Given the description of an element on the screen output the (x, y) to click on. 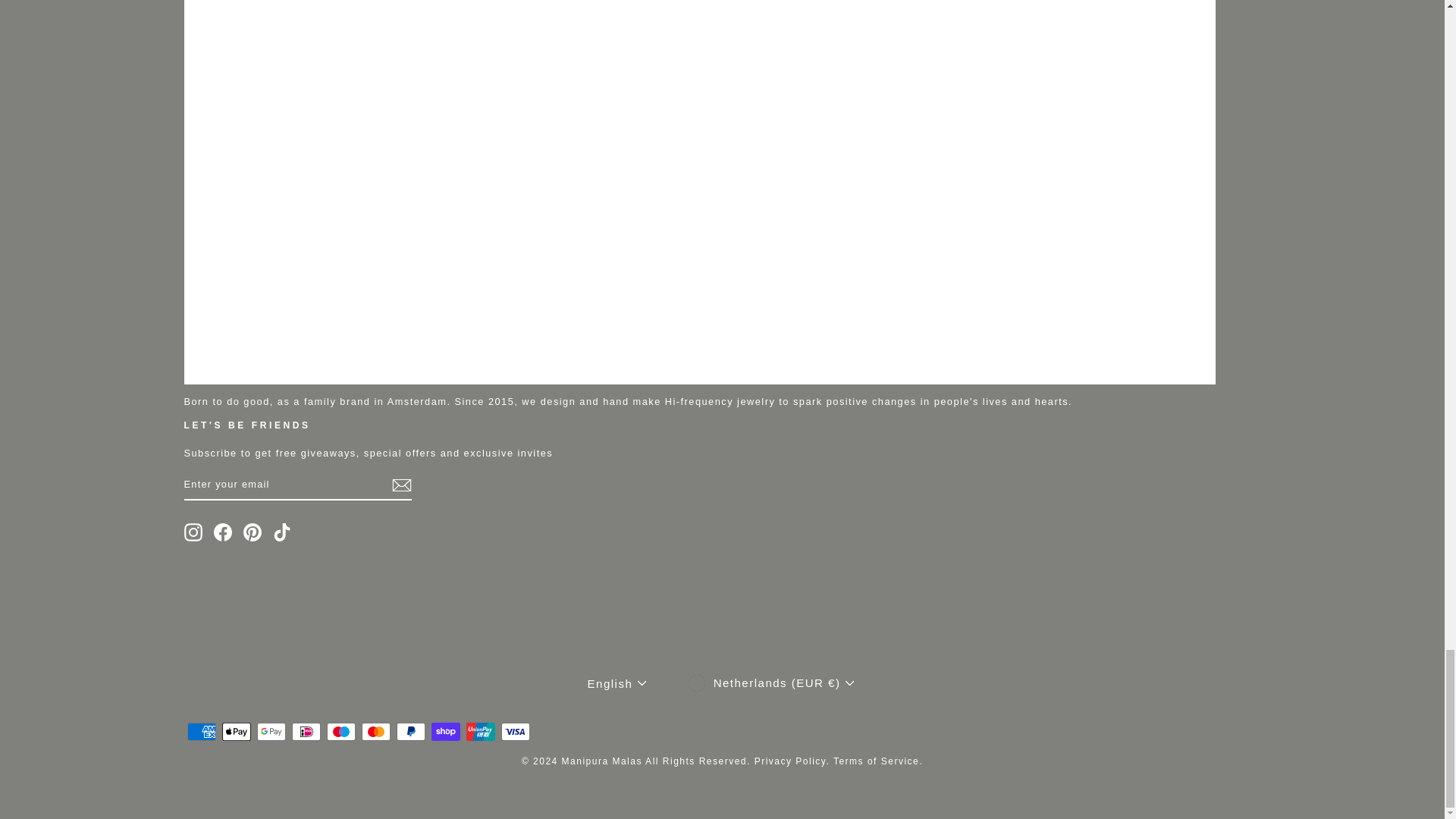
Manipura Malas on Instagram (192, 532)
Manipura Malas on Pinterest (251, 532)
Manipura Malas on TikTok (282, 532)
Manipura Malas on Facebook (222, 532)
